Given the description of an element on the screen output the (x, y) to click on. 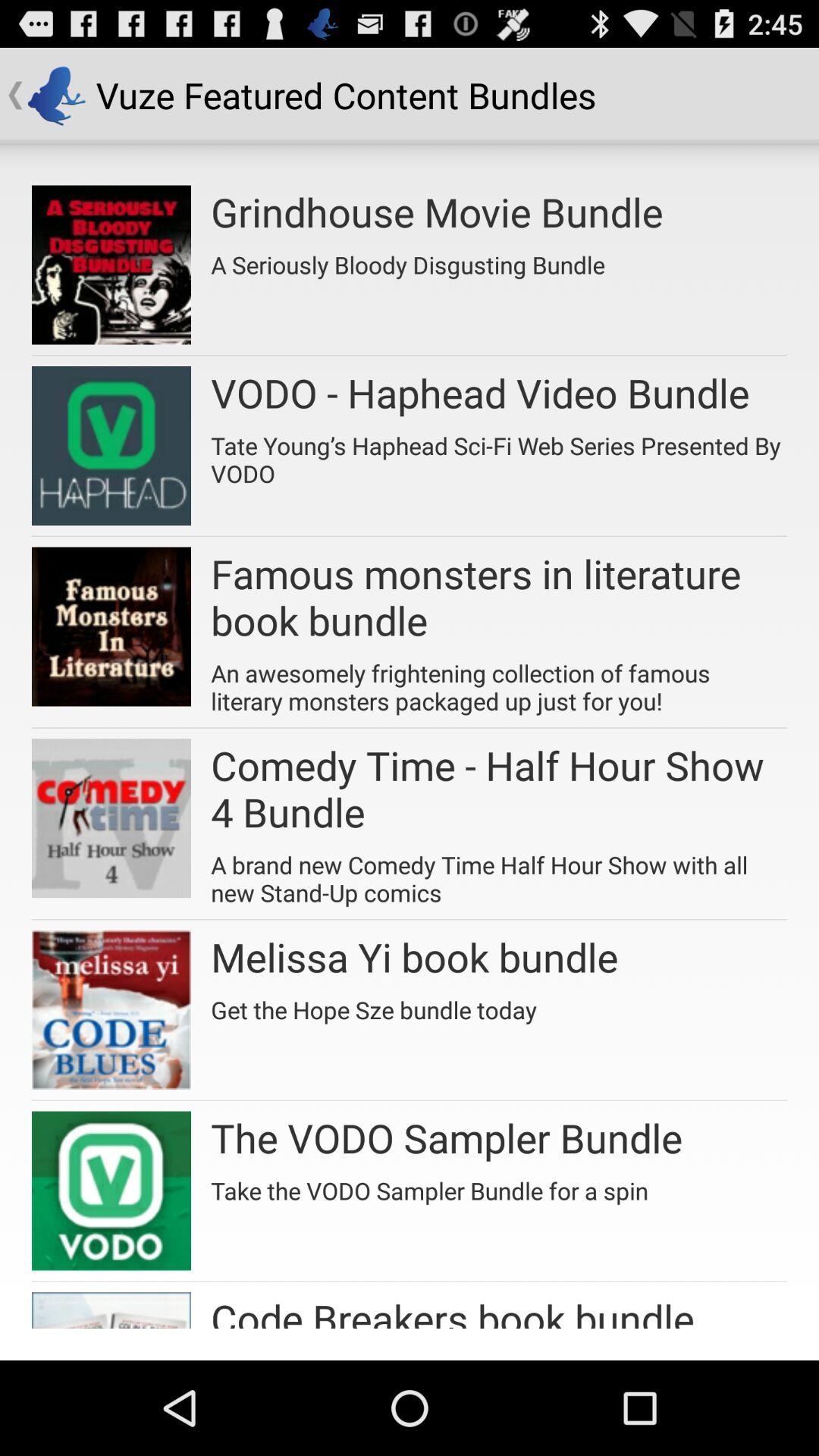
swipe until the a seriously bloody app (408, 259)
